Given the description of an element on the screen output the (x, y) to click on. 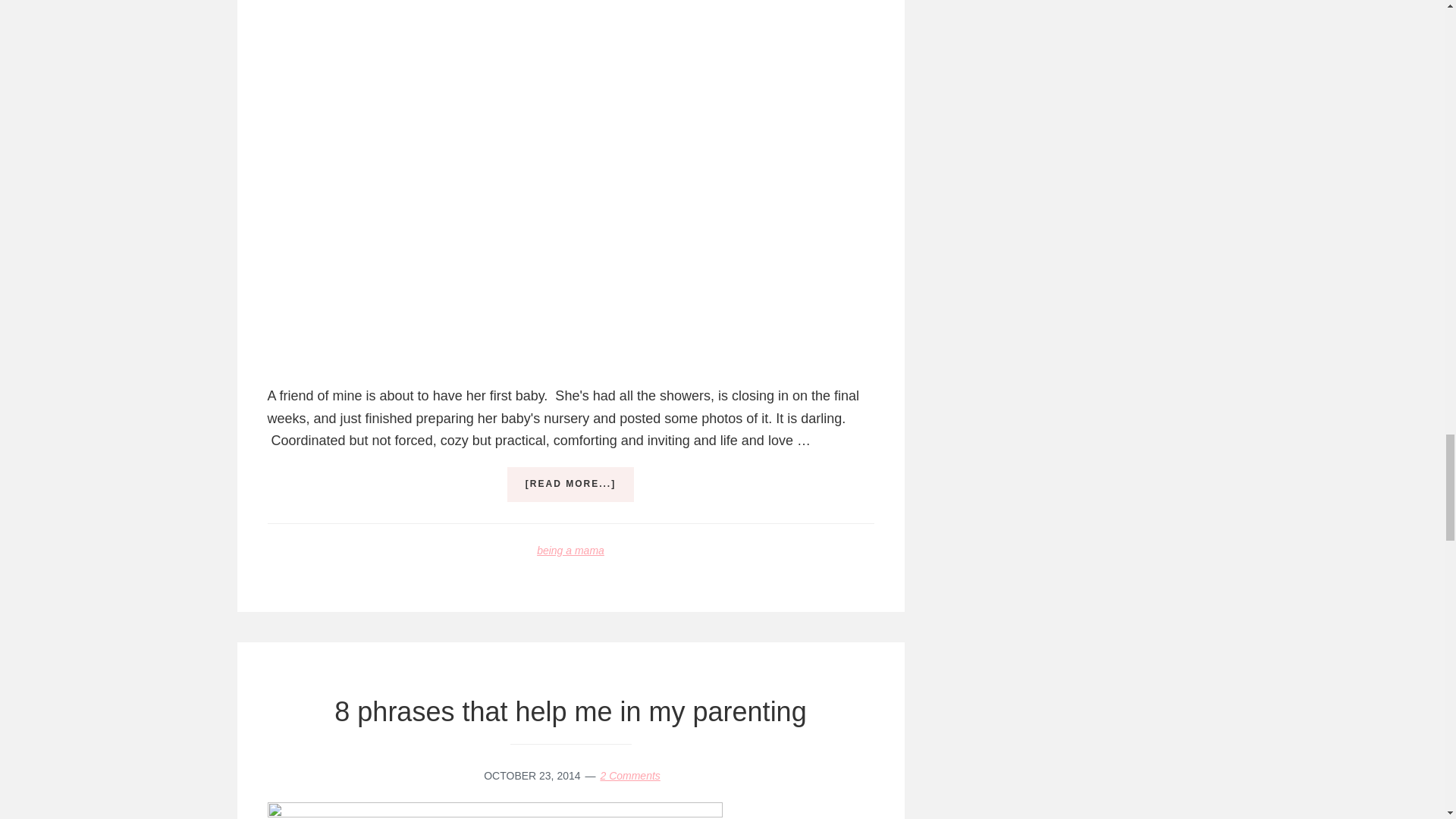
8 phrases that help me in my parenting (570, 711)
being a mama (570, 550)
2 Comments (629, 775)
